Given the description of an element on the screen output the (x, y) to click on. 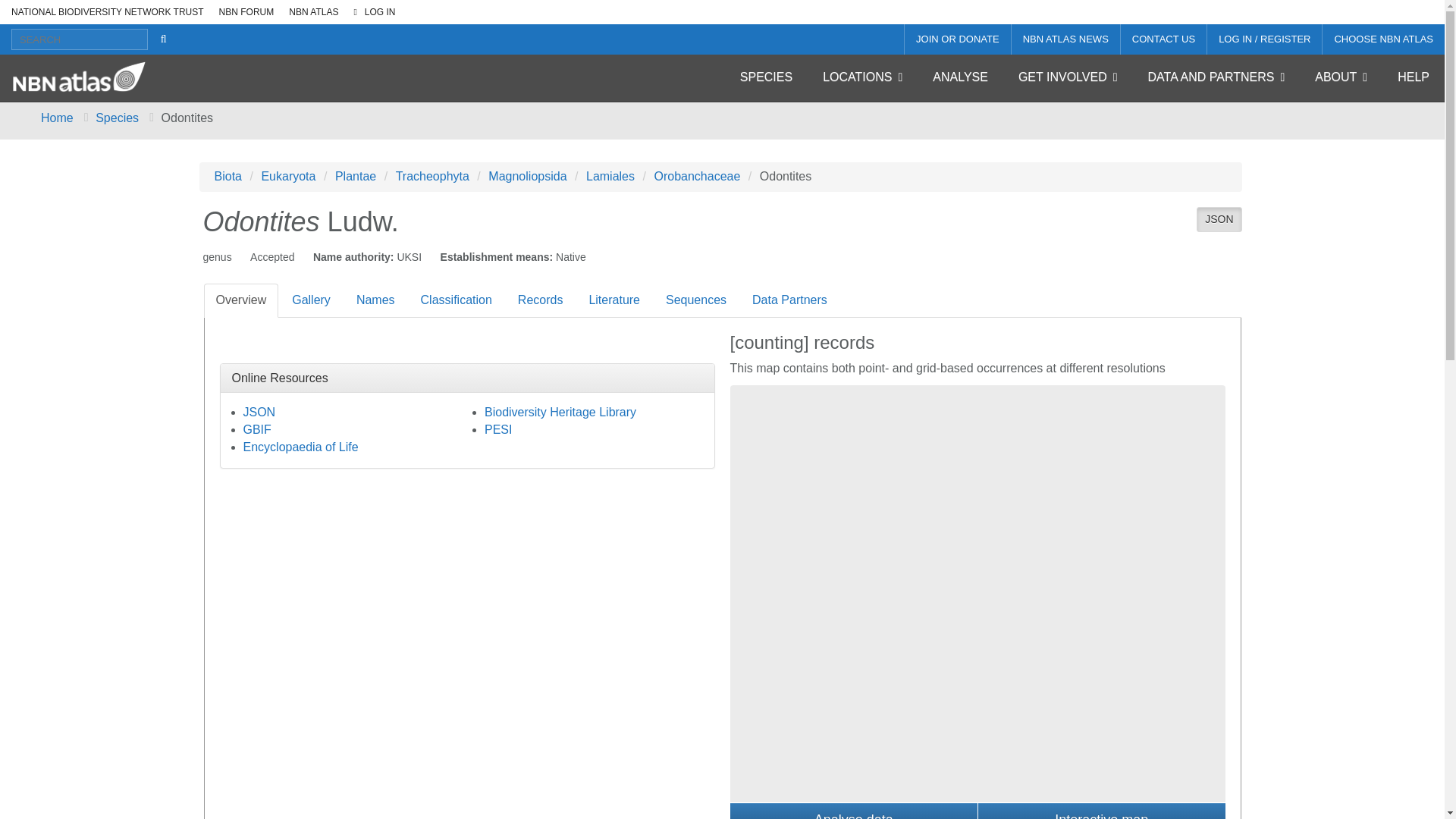
NBN ATLAS NEWS (1065, 39)
DATA AND PARTNERS (1216, 76)
SPECIES (766, 76)
Analyse data for this taxon using advance map tools (852, 811)
NBN ATLAS (310, 12)
LOCATIONS (862, 76)
ANALYSE (960, 76)
NATIONAL BIODIVERSITY NETWORK TRUST (104, 12)
ABOUT (1340, 76)
